Given the description of an element on the screen output the (x, y) to click on. 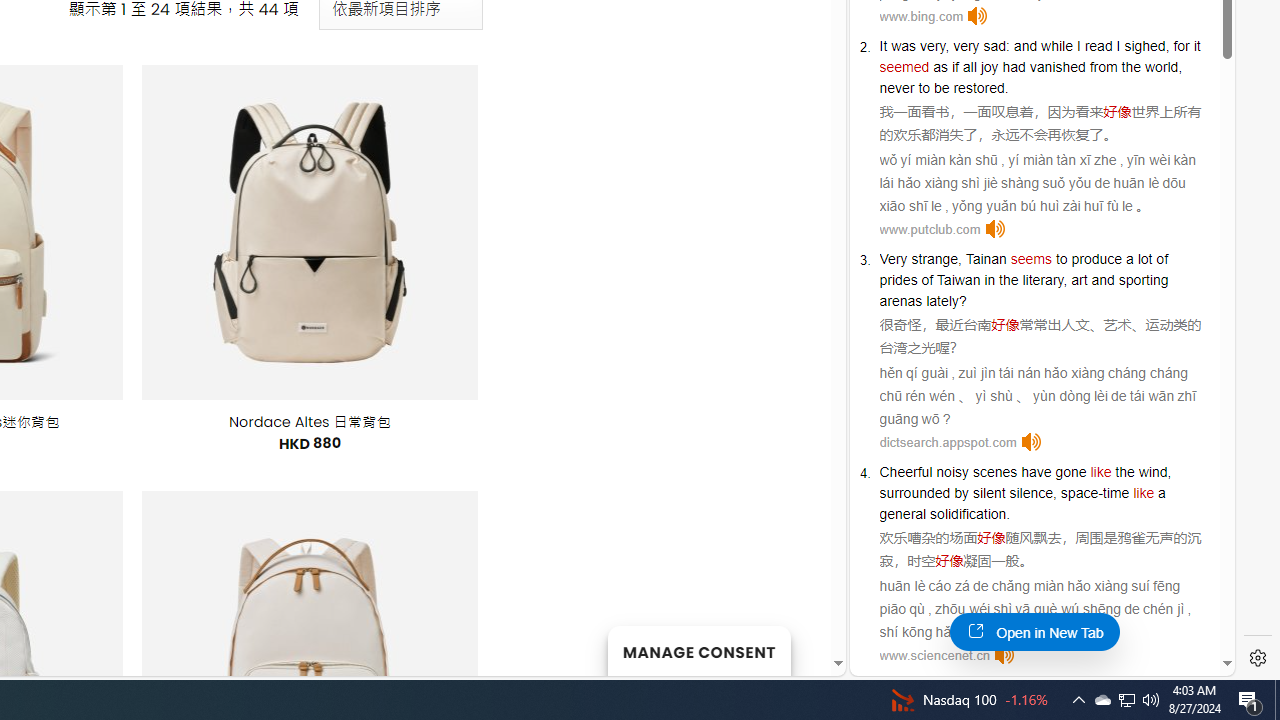
read (1098, 46)
vanished (1057, 66)
noisy (951, 471)
gone (1070, 471)
Tainan (986, 259)
art (1079, 280)
strange (934, 259)
